Given the description of an element on the screen output the (x, y) to click on. 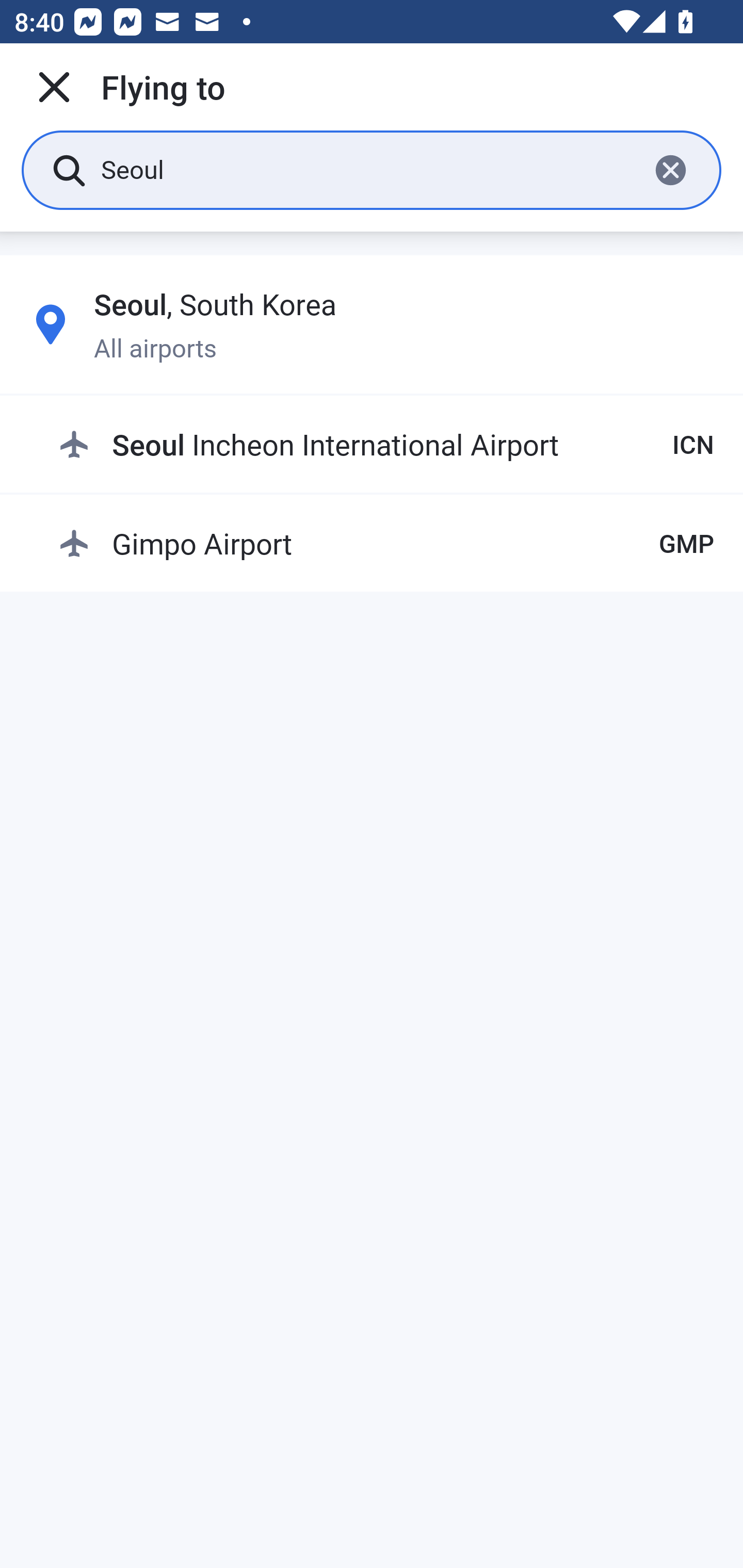
Seoul (367, 169)
Seoul, South Korea All airports (371, 324)
Seoul Incheon International Airport ICN (385, 444)
Gimpo Airport GMP (385, 543)
